Given the description of an element on the screen output the (x, y) to click on. 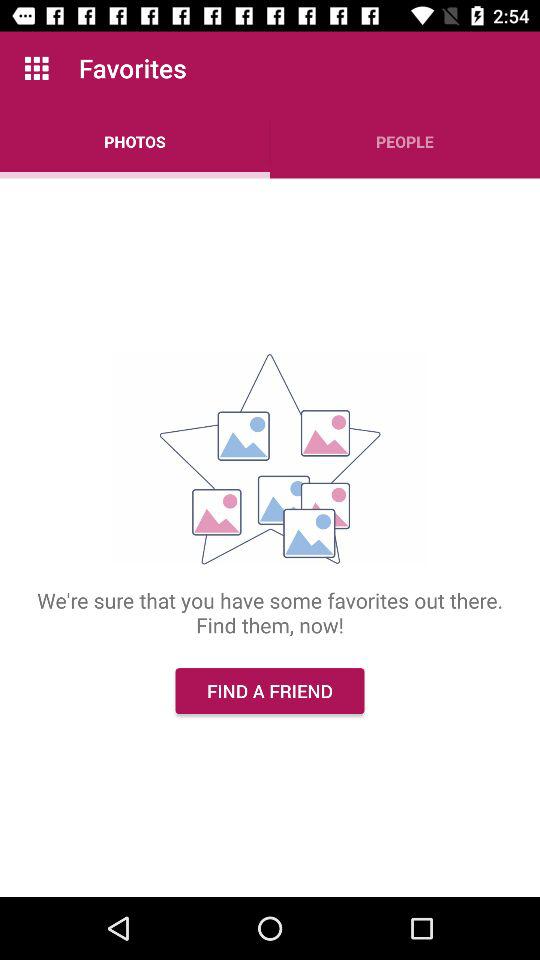
turn off app to the left of favorites icon (36, 68)
